Given the description of an element on the screen output the (x, y) to click on. 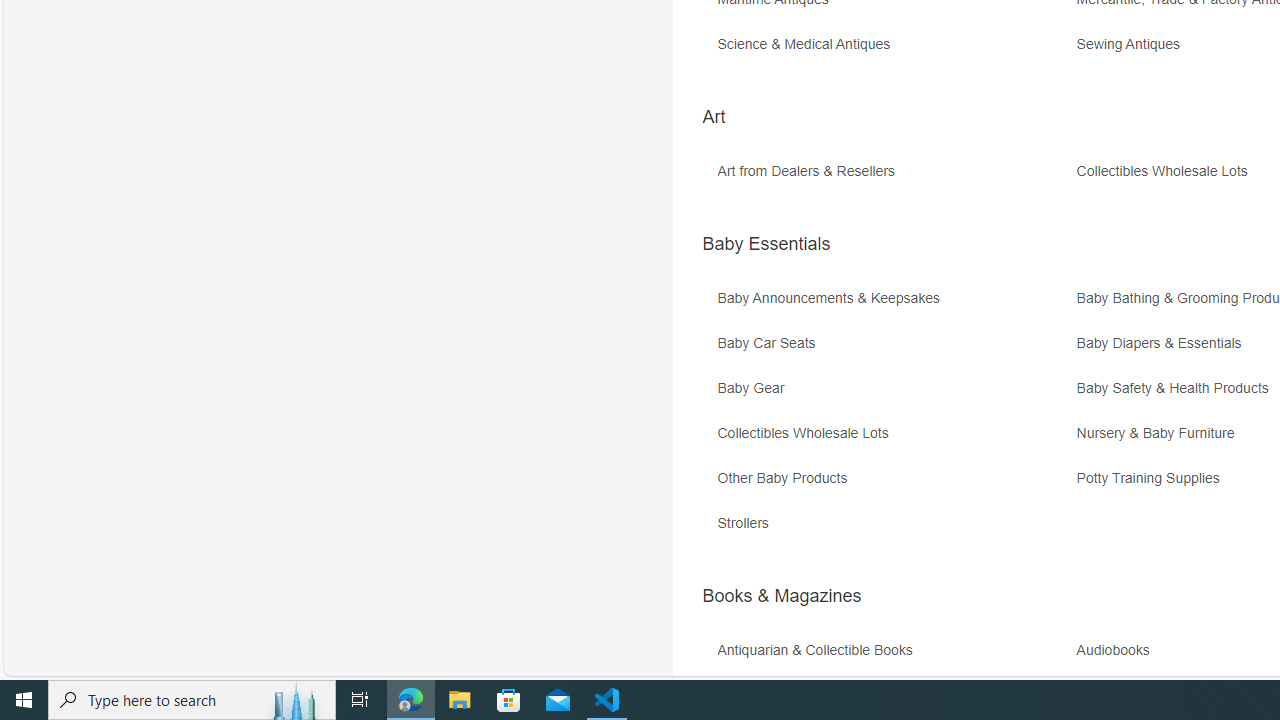
Other Baby Products (786, 478)
Collectibles Wholesale Lots (807, 433)
Other Baby Products (894, 485)
Art from Dealers & Resellers (810, 171)
Art from Dealers & Resellers (894, 178)
Collectibles Wholesale Lots (894, 440)
Sewing Antiques (1133, 43)
Baby Car Seats (770, 343)
Baby Announcements & Keepsakes (894, 305)
Baby Gear (755, 388)
Baby Diapers & Essentials (1163, 343)
Strollers (747, 523)
Science & Medical Antiques (894, 51)
Baby Gear (894, 395)
Strollers (894, 529)
